Given the description of an element on the screen output the (x, y) to click on. 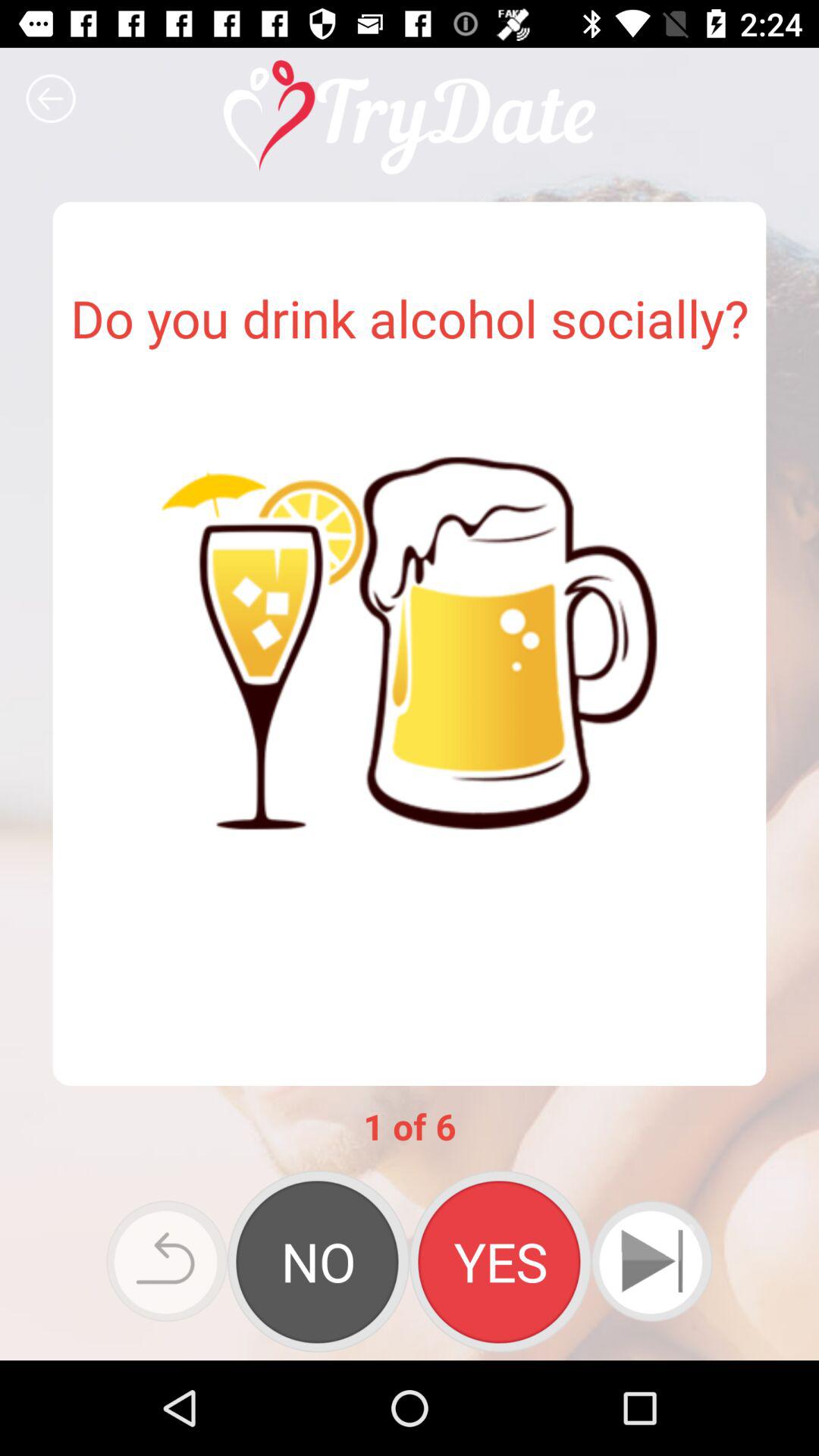
tap icon at the top left corner (50, 98)
